Given the description of an element on the screen output the (x, y) to click on. 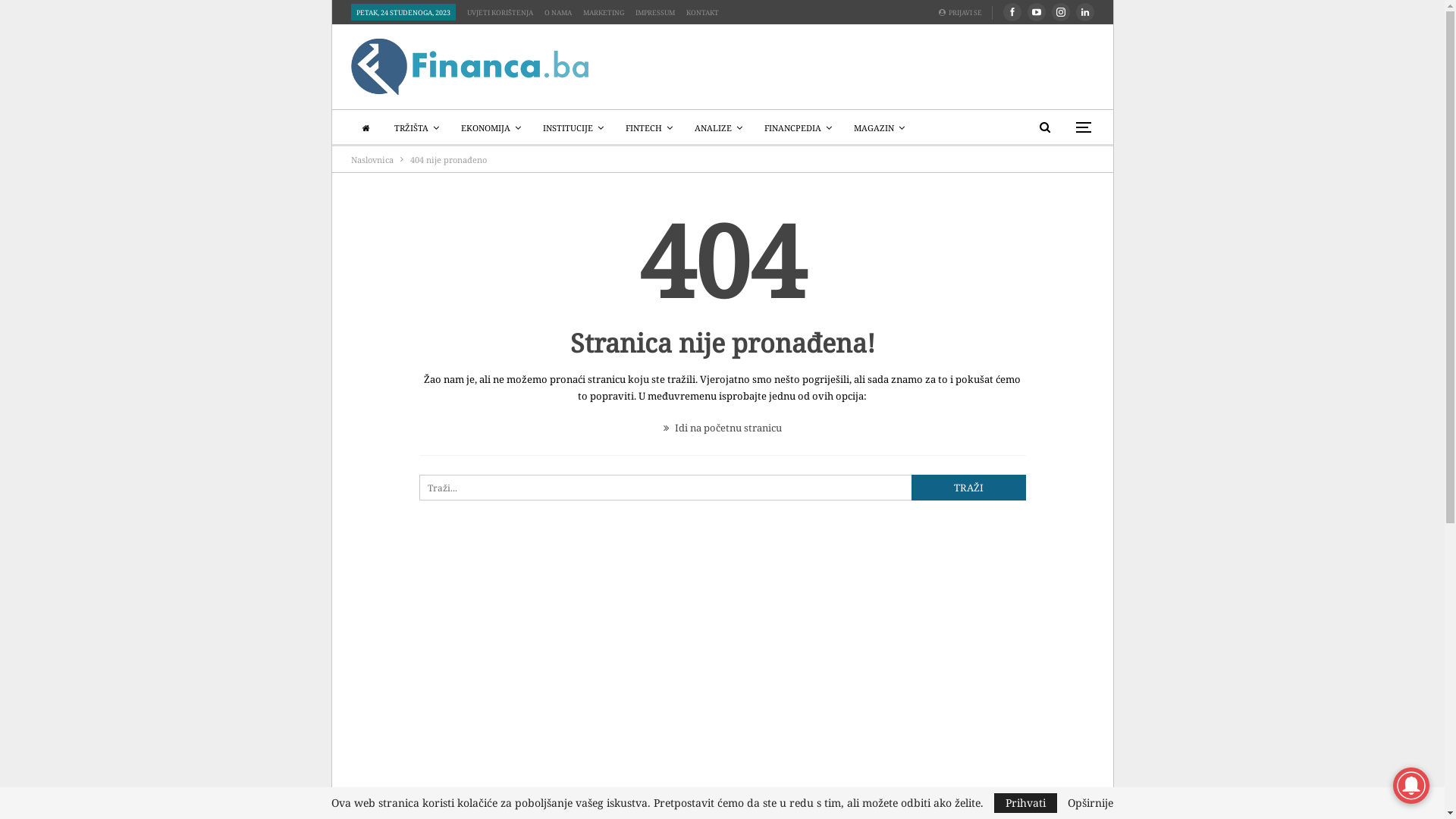
MARKETING Element type: text (602, 12)
FINTECH Element type: text (647, 127)
O NAMA Element type: text (557, 12)
IMPRESSUM Element type: text (654, 12)
Naslovnica Element type: text (371, 159)
PRIJAVI SE Element type: text (964, 12)
FINANCPEDIA Element type: text (797, 127)
Advertisement Element type: hover (915, 64)
ANALIZE Element type: text (718, 127)
EKONOMIJA Element type: text (490, 127)
INSTITUCIJE Element type: text (572, 127)
KONTAKT Element type: text (701, 12)
Prihvati Element type: text (1025, 802)
MAGAZIN Element type: text (878, 127)
